Given the description of an element on the screen output the (x, y) to click on. 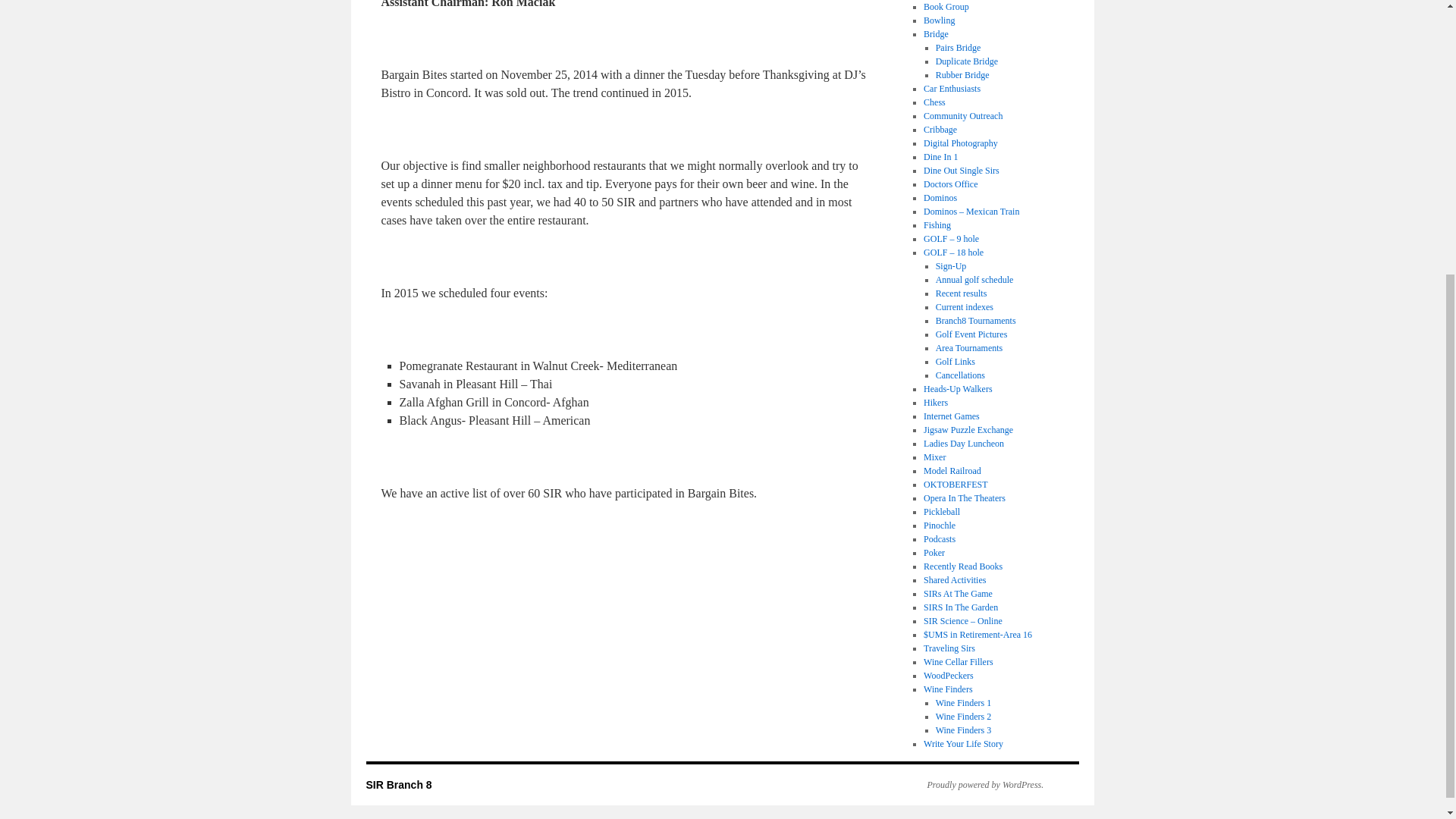
Carmel Golf Pictures (971, 334)
Semantic Personal Publishing Platform (977, 784)
